Given the description of an element on the screen output the (x, y) to click on. 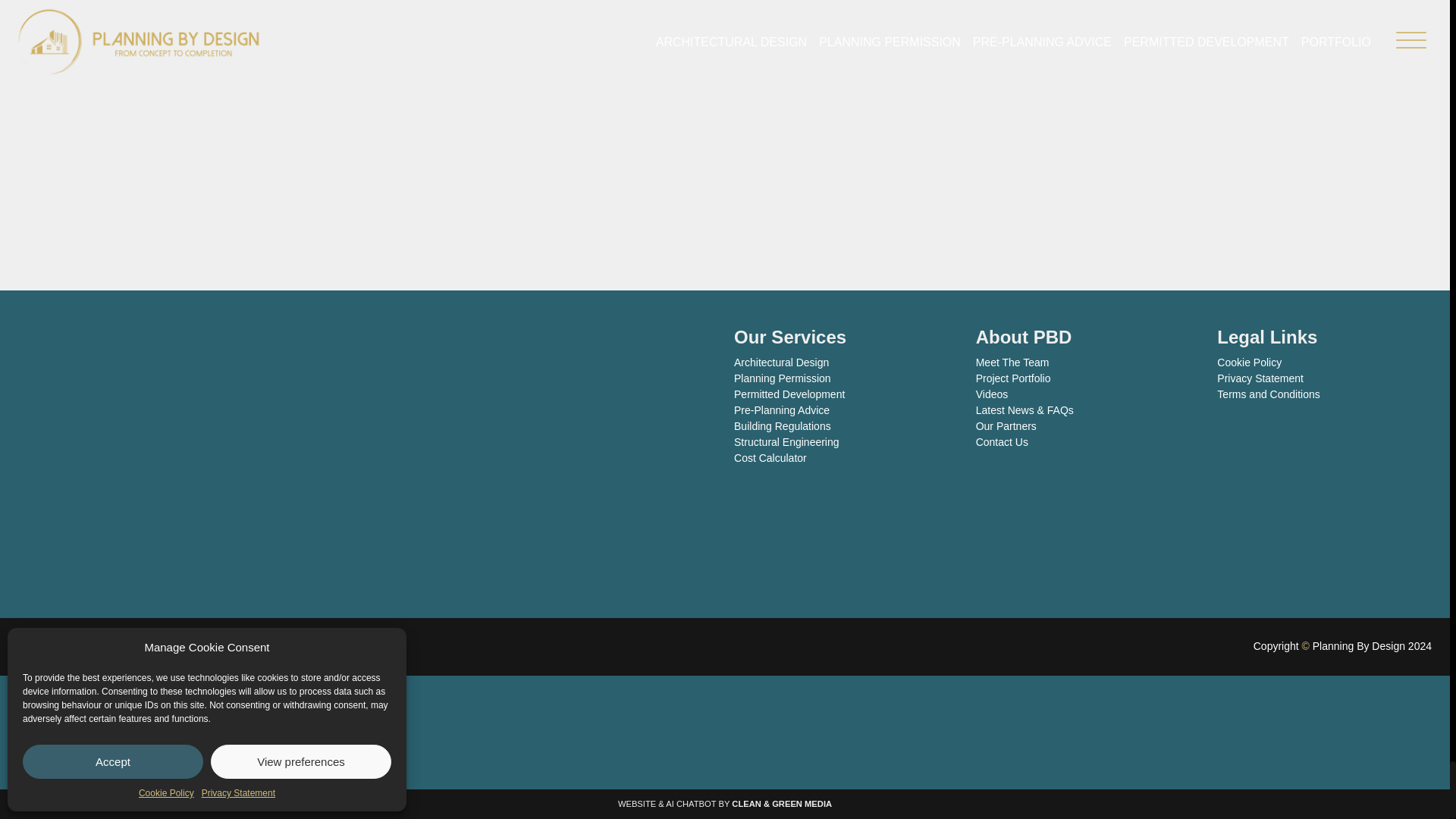
Facebook (30, 647)
YouTube (86, 646)
LinkedIn (57, 647)
